Given the description of an element on the screen output the (x, y) to click on. 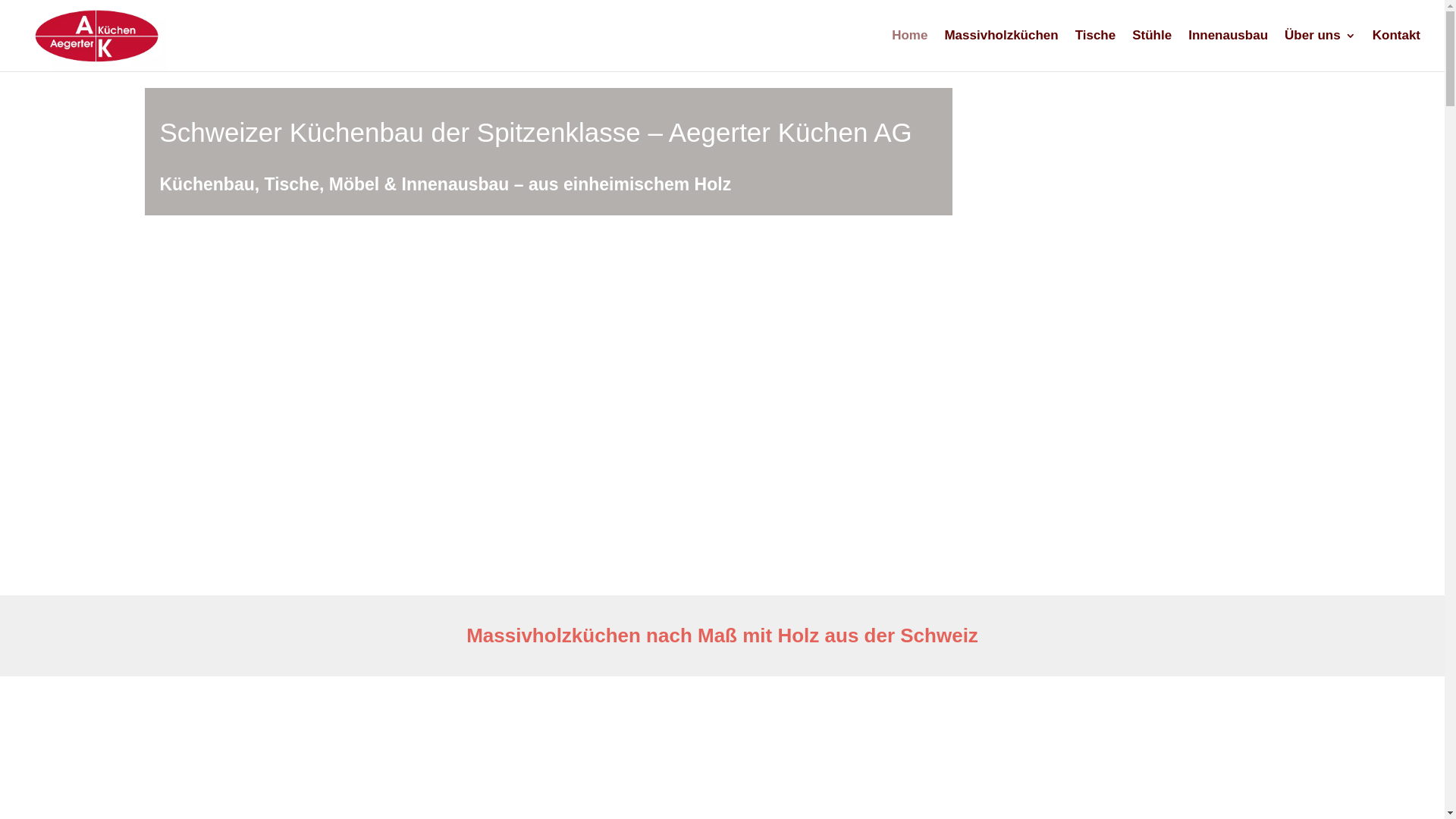
Innenausbau Element type: text (1227, 50)
Kontakt Element type: text (1396, 50)
Tische Element type: text (1095, 50)
Home Element type: text (909, 50)
